Given the description of an element on the screen output the (x, y) to click on. 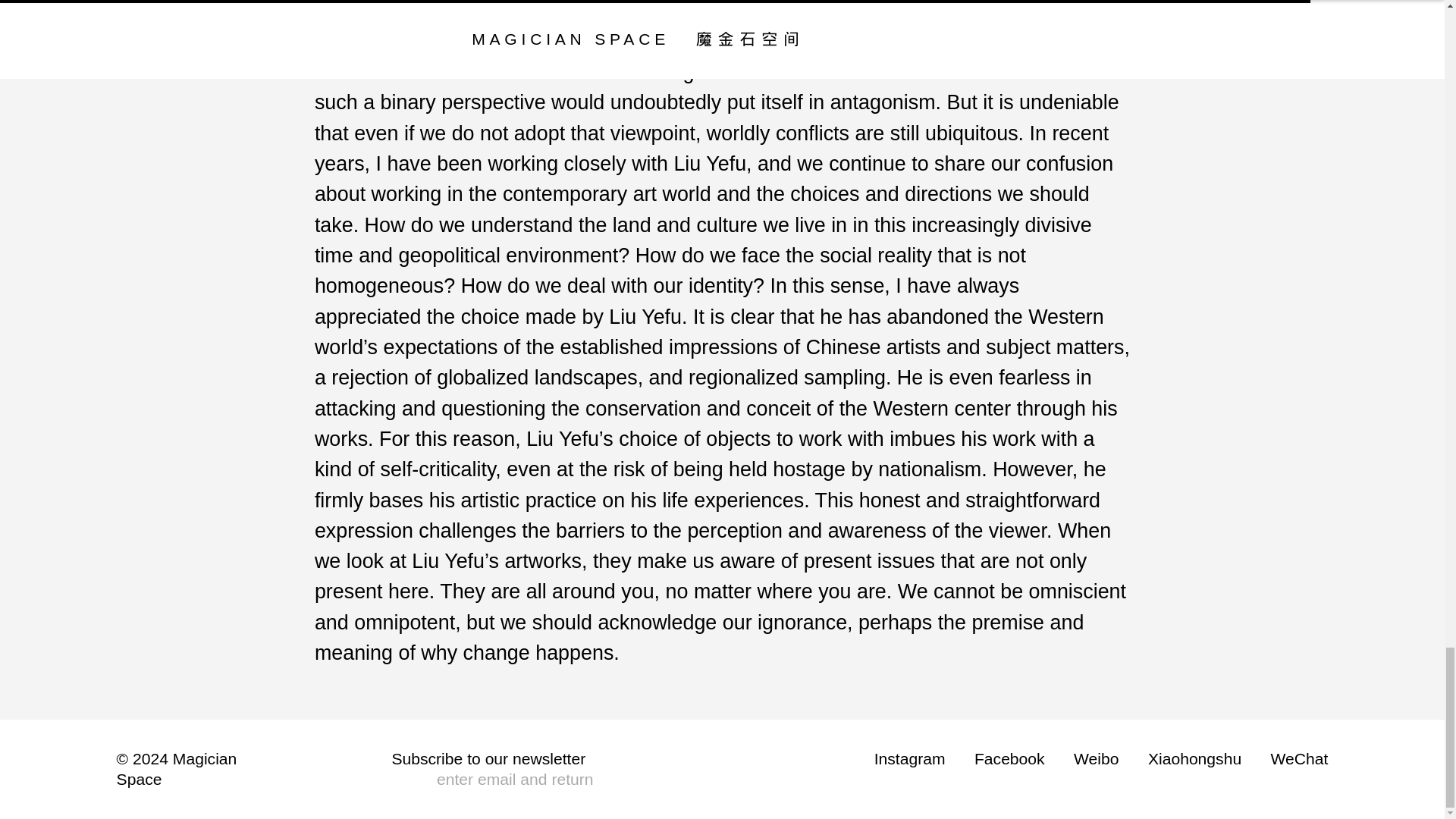
Xiaohongshu (1194, 758)
Facebook (1009, 758)
Instagram (909, 758)
Weibo (1096, 758)
WeChat (1299, 758)
